Given the description of an element on the screen output the (x, y) to click on. 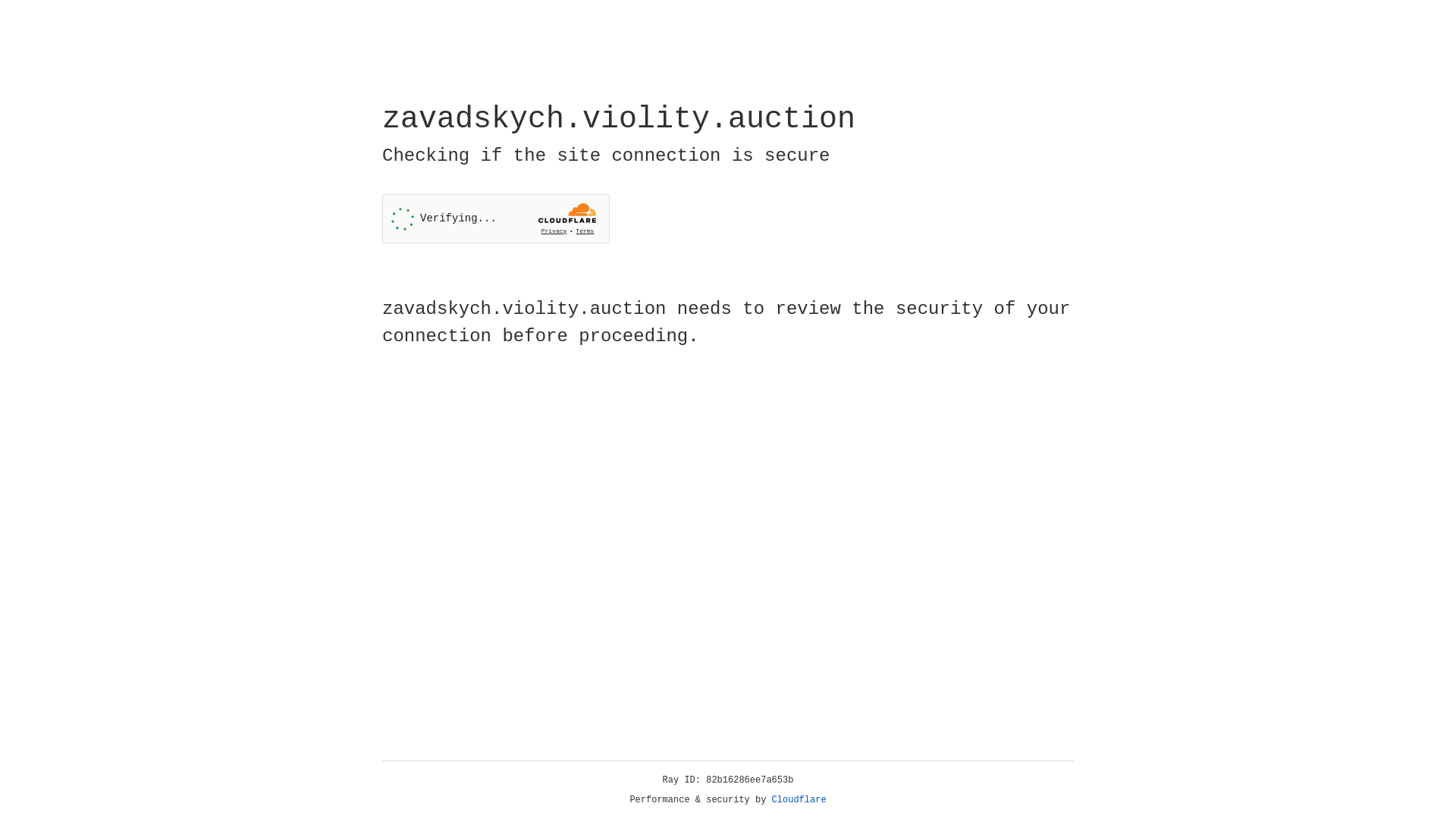
Widget containing a Cloudflare security challenge Element type: hover (495, 218)
Cloudflare Element type: text (798, 799)
